Given the description of an element on the screen output the (x, y) to click on. 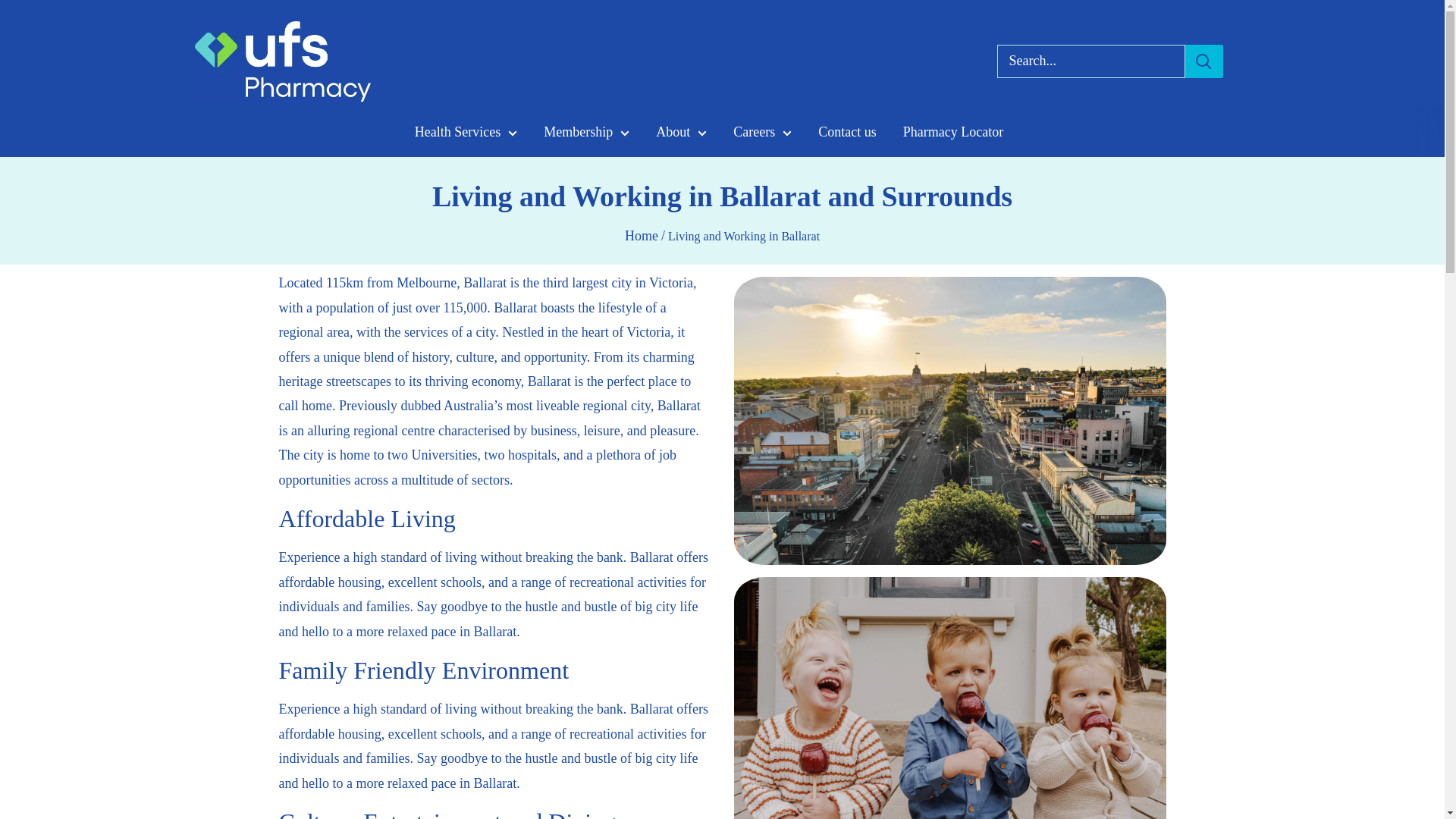
Living and Working in Ballarat (743, 236)
